Given the description of an element on the screen output the (x, y) to click on. 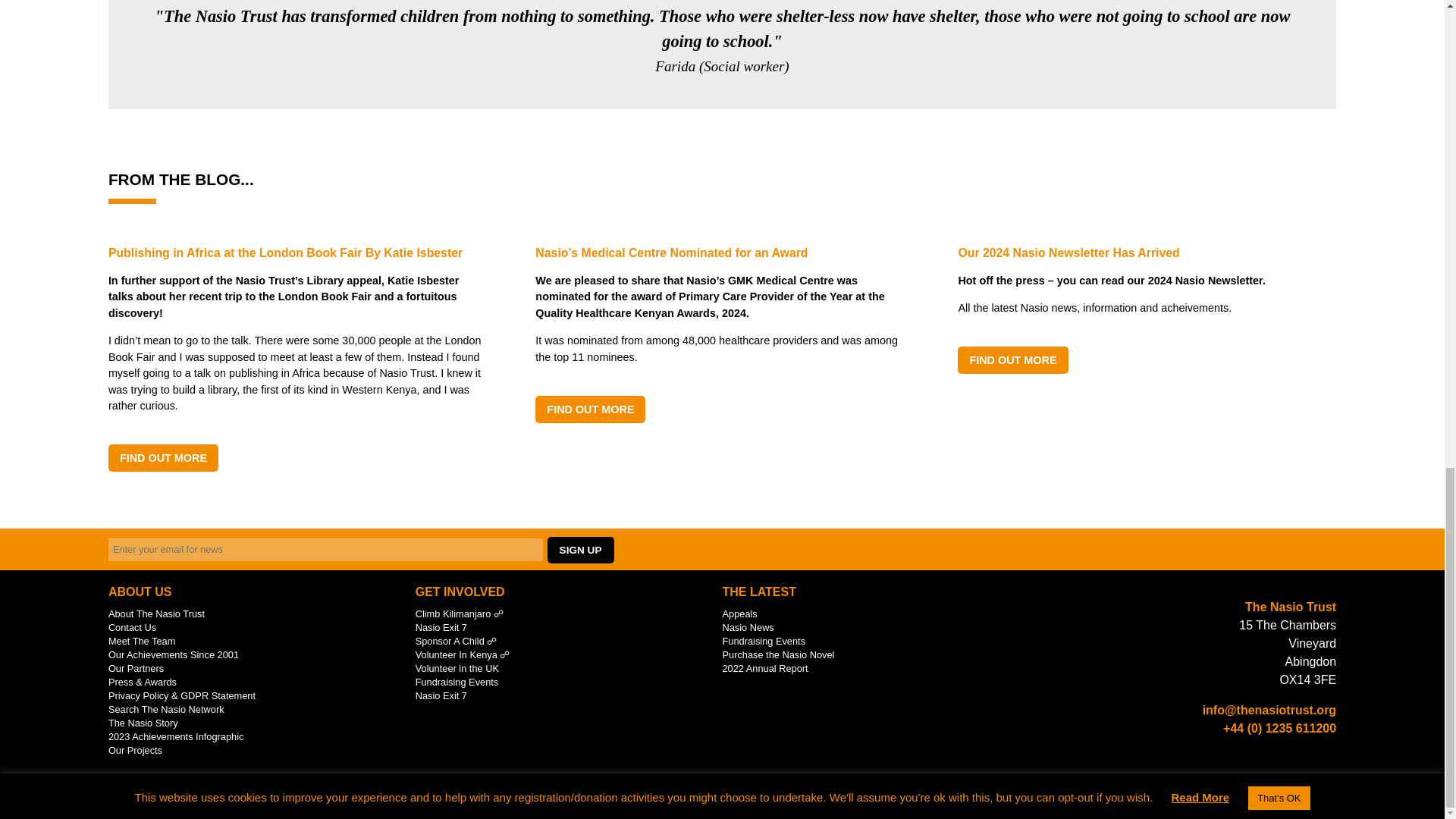
Find The Nasio Trust on Instagram (1316, 549)
Our 2024 Nasio Newsletter Has Arrived (1147, 252)
Our 2024 Nasio Newsletter Has Arrived (1012, 359)
FIND OUT MORE (590, 408)
FIND OUT MORE (162, 457)
Sign Up (580, 550)
